Given the description of an element on the screen output the (x, y) to click on. 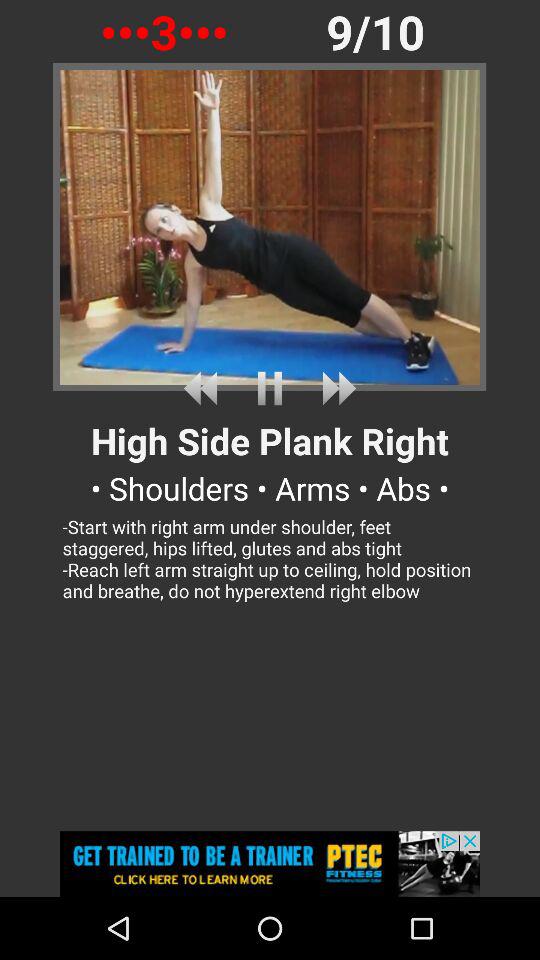
go to advertisement (270, 864)
